Given the description of an element on the screen output the (x, y) to click on. 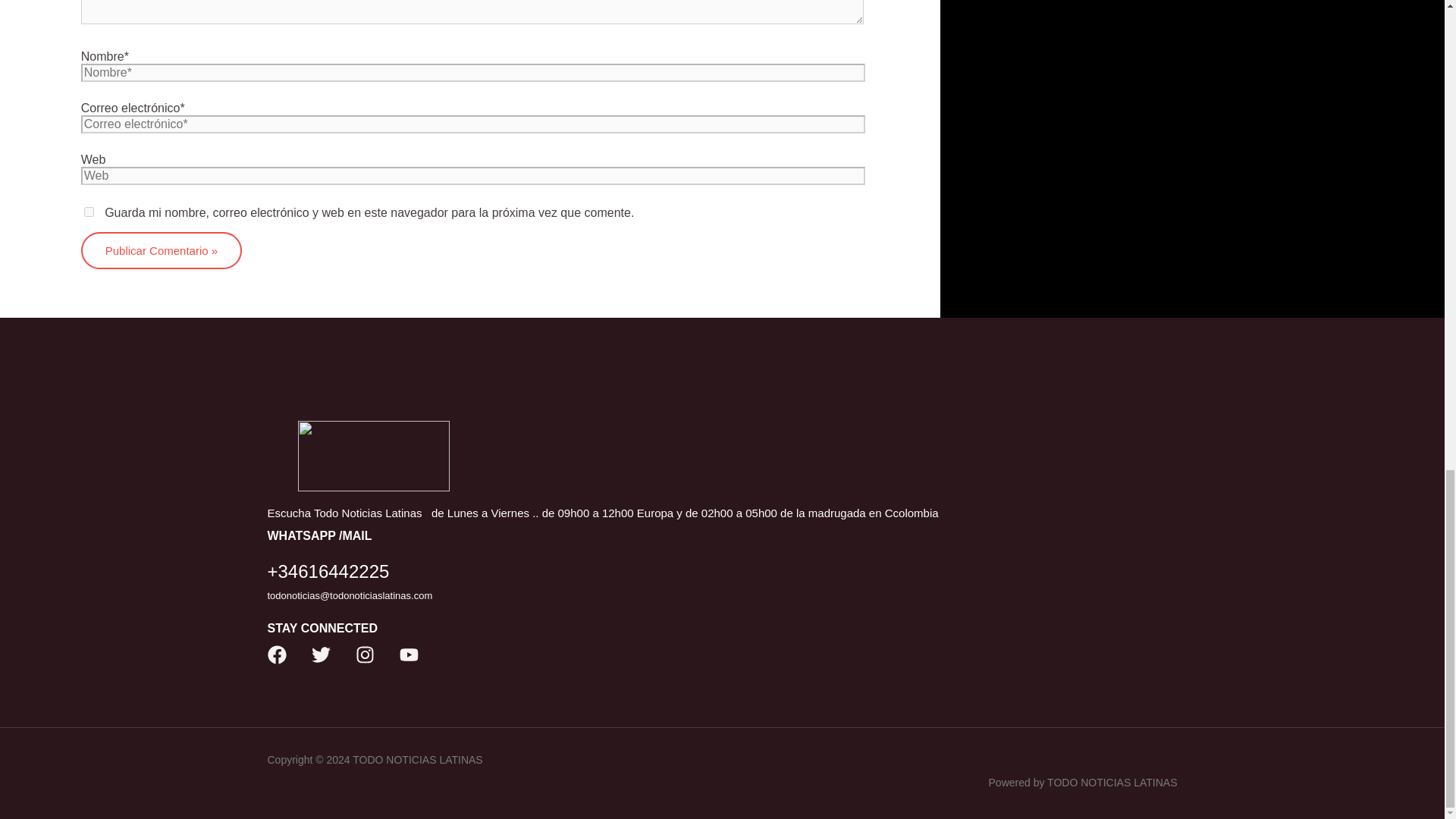
yes (89, 212)
